Given the description of an element on the screen output the (x, y) to click on. 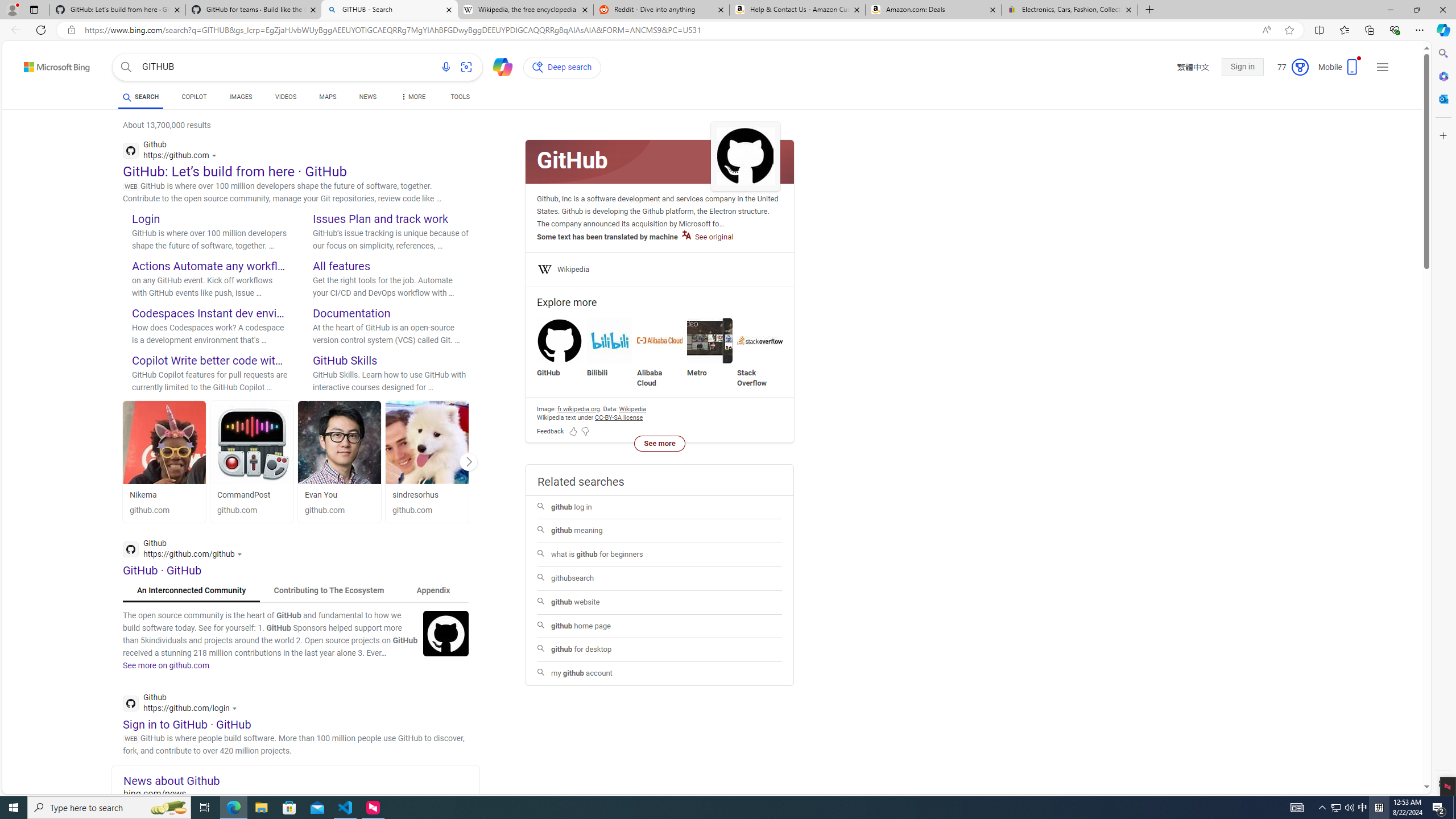
GitHub (559, 340)
Explore more (660, 302)
COPILOT (193, 96)
Nikema (143, 494)
githubsearch (659, 578)
CommandPost (243, 494)
Metro (709, 340)
CommandPost CommandPost github.com (252, 461)
what is github for beginners (659, 554)
